Given the description of an element on the screen output the (x, y) to click on. 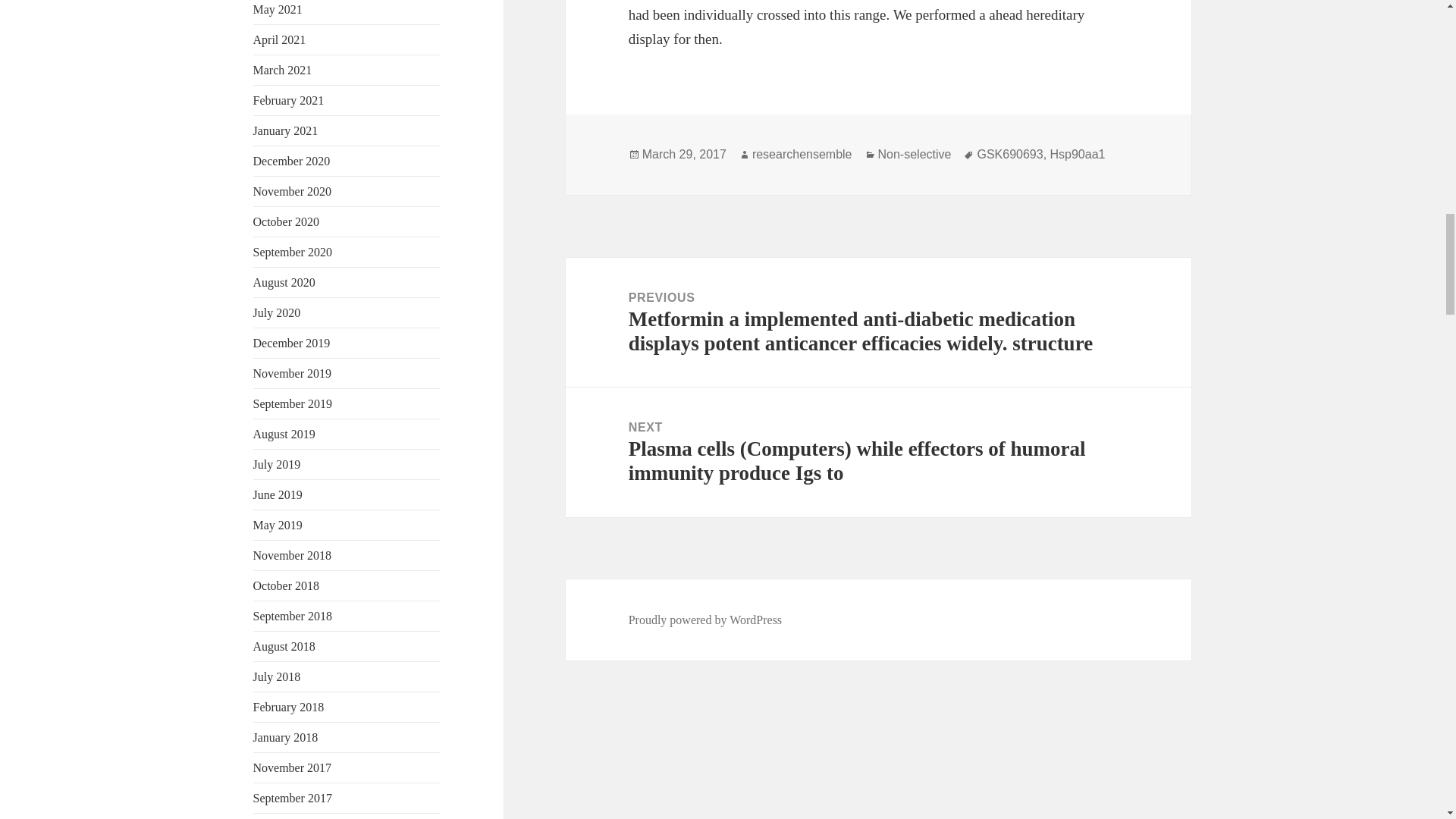
May 2021 (277, 9)
April 2021 (279, 39)
